Given the description of an element on the screen output the (x, y) to click on. 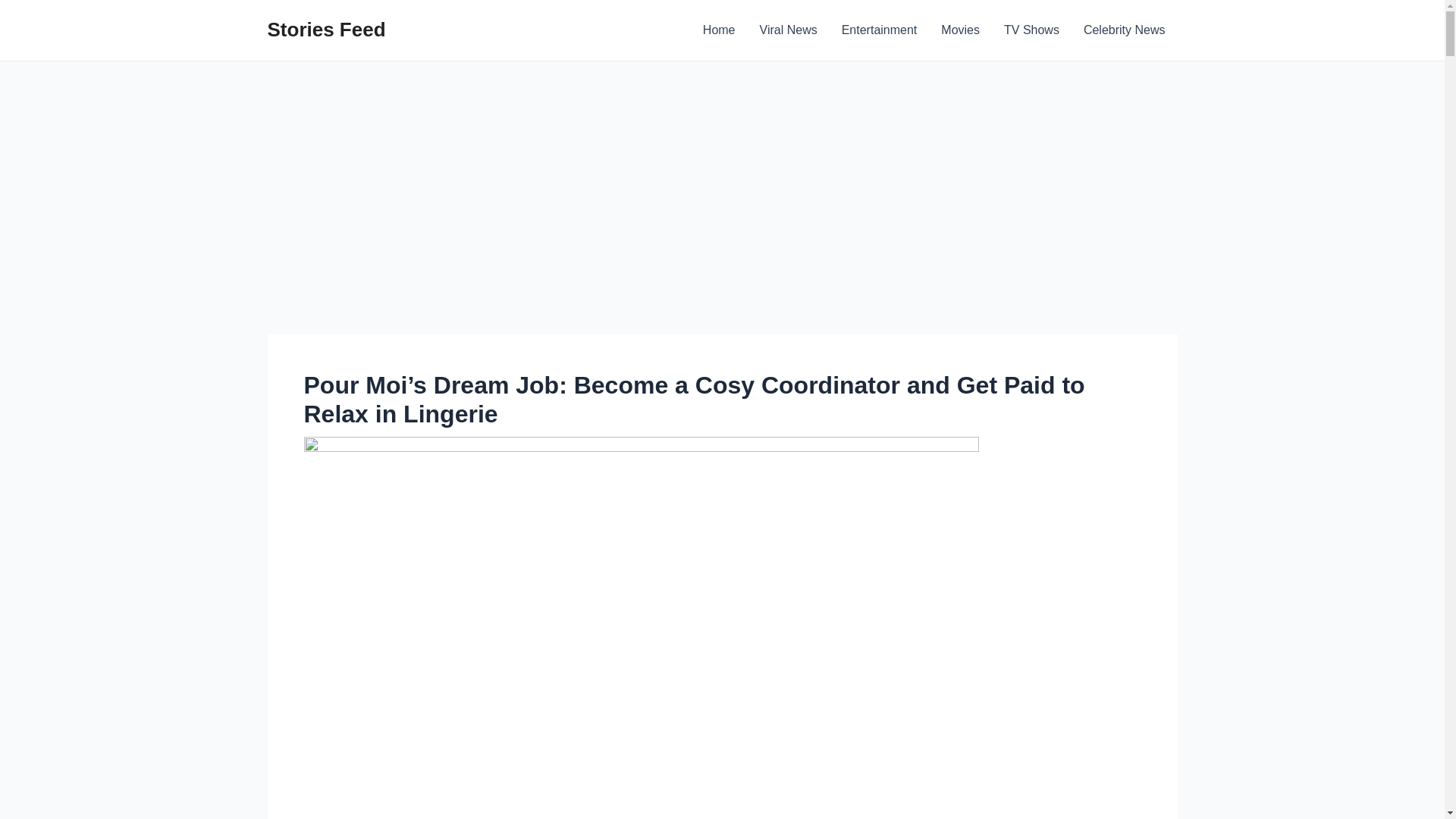
Stories Feed (325, 29)
Entertainment (879, 30)
Home (719, 30)
Movies (959, 30)
Celebrity News (1124, 30)
TV Shows (1031, 30)
Viral News (788, 30)
